Given the description of an element on the screen output the (x, y) to click on. 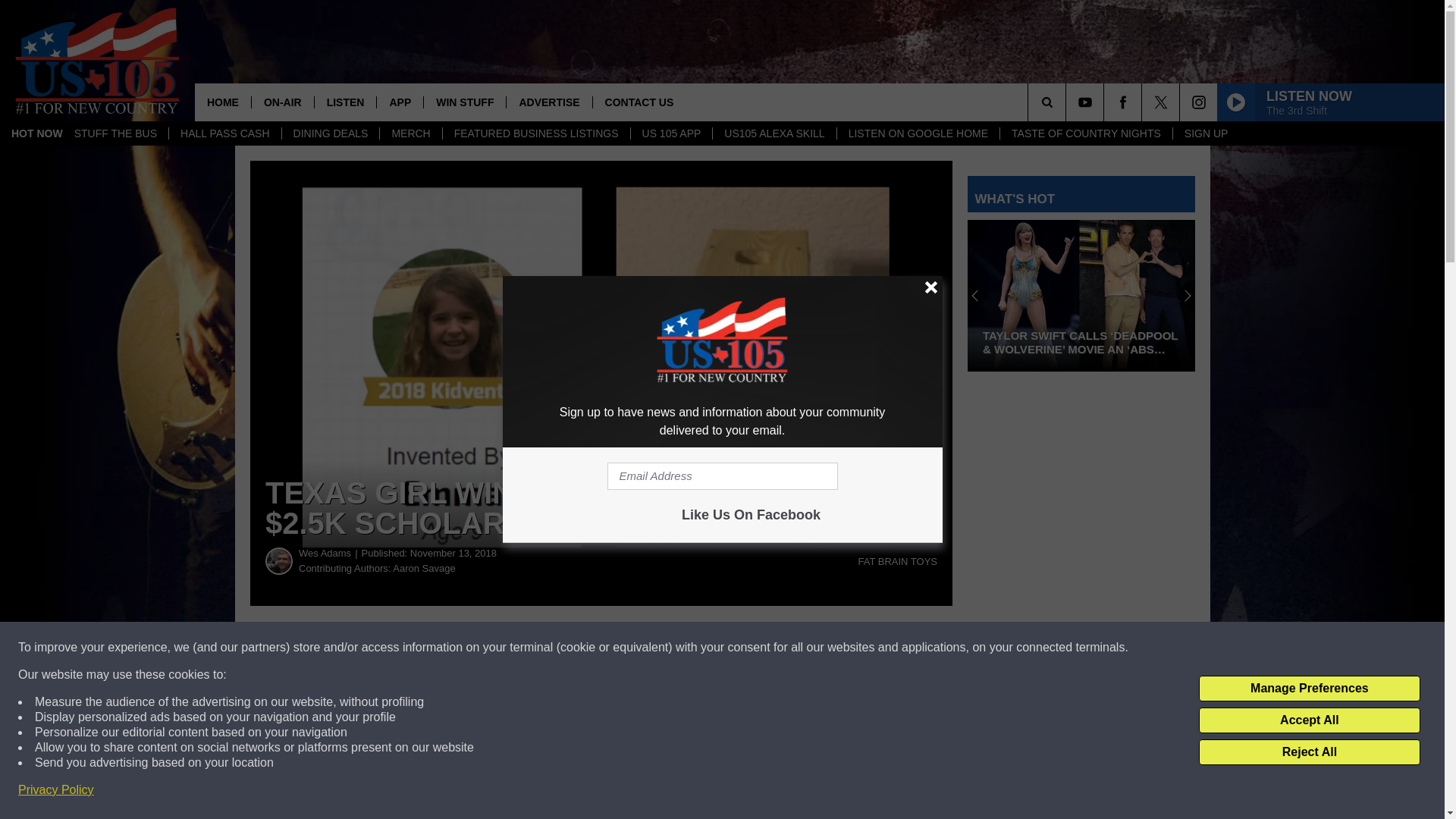
Privacy Policy (55, 789)
LISTEN ON GOOGLE HOME (916, 133)
Email Address (722, 475)
STUFF THE BUS (115, 133)
US 105 APP (671, 133)
FEATURED BUSINESS LISTINGS (536, 133)
Share on Twitter (741, 647)
SEARCH (1068, 102)
US105 ALEXA SKILL (773, 133)
HALL PASS CASH (224, 133)
DINING DEALS (330, 133)
Manage Preferences (1309, 688)
MERCH (409, 133)
Reject All (1309, 751)
TASTE OF COUNTRY NIGHTS (1085, 133)
